Given the description of an element on the screen output the (x, y) to click on. 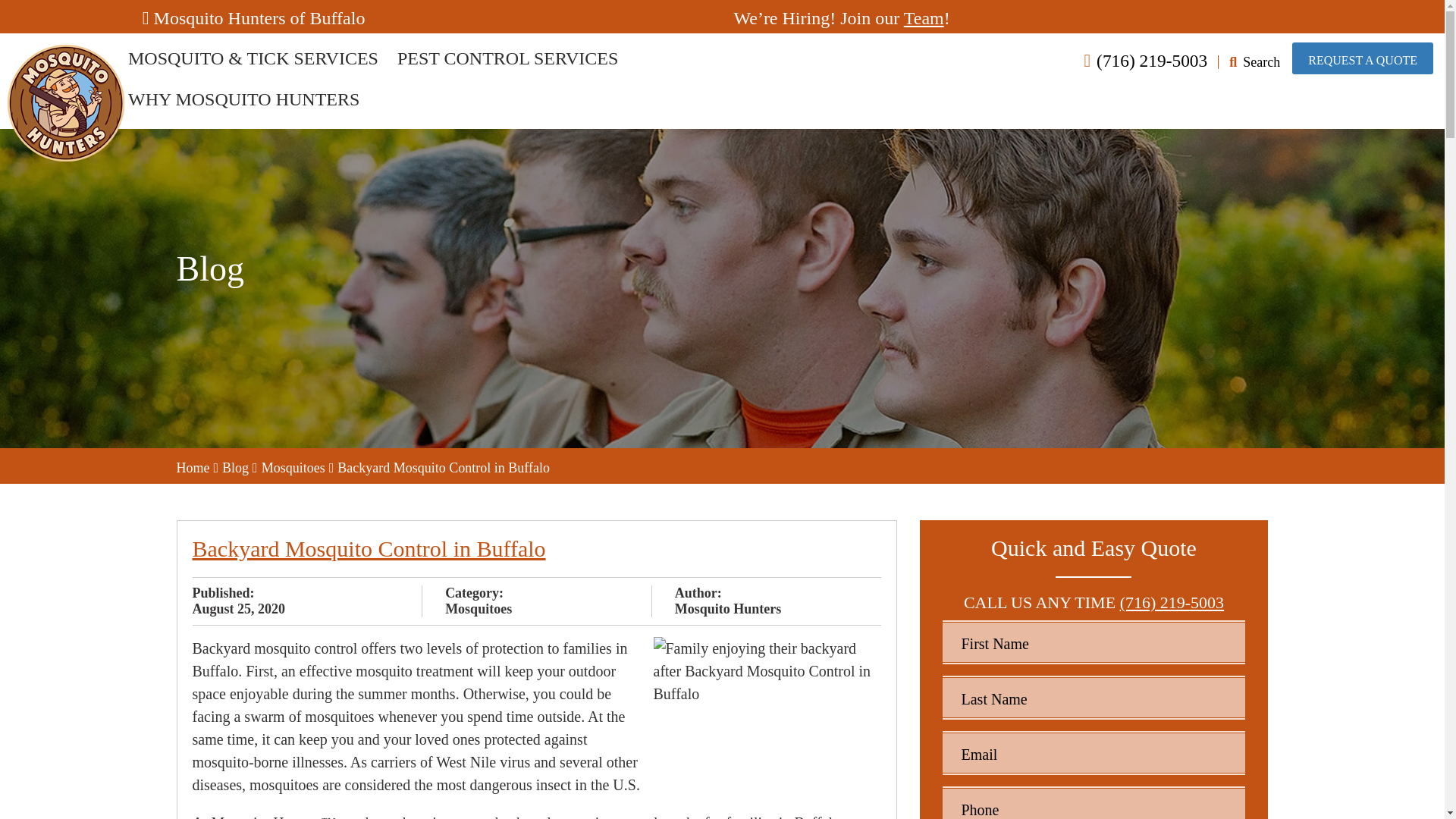
PEST CONTROL SERVICES (507, 58)
Team (923, 17)
REQUEST A QUOTE (1362, 58)
Go to the Mosquitoes category archives. (293, 467)
WHY MOSQUITO HUNTERS (243, 99)
Mosquito Hunters (65, 55)
Go to Home (192, 467)
Go to Blog. (235, 467)
